Given the description of an element on the screen output the (x, y) to click on. 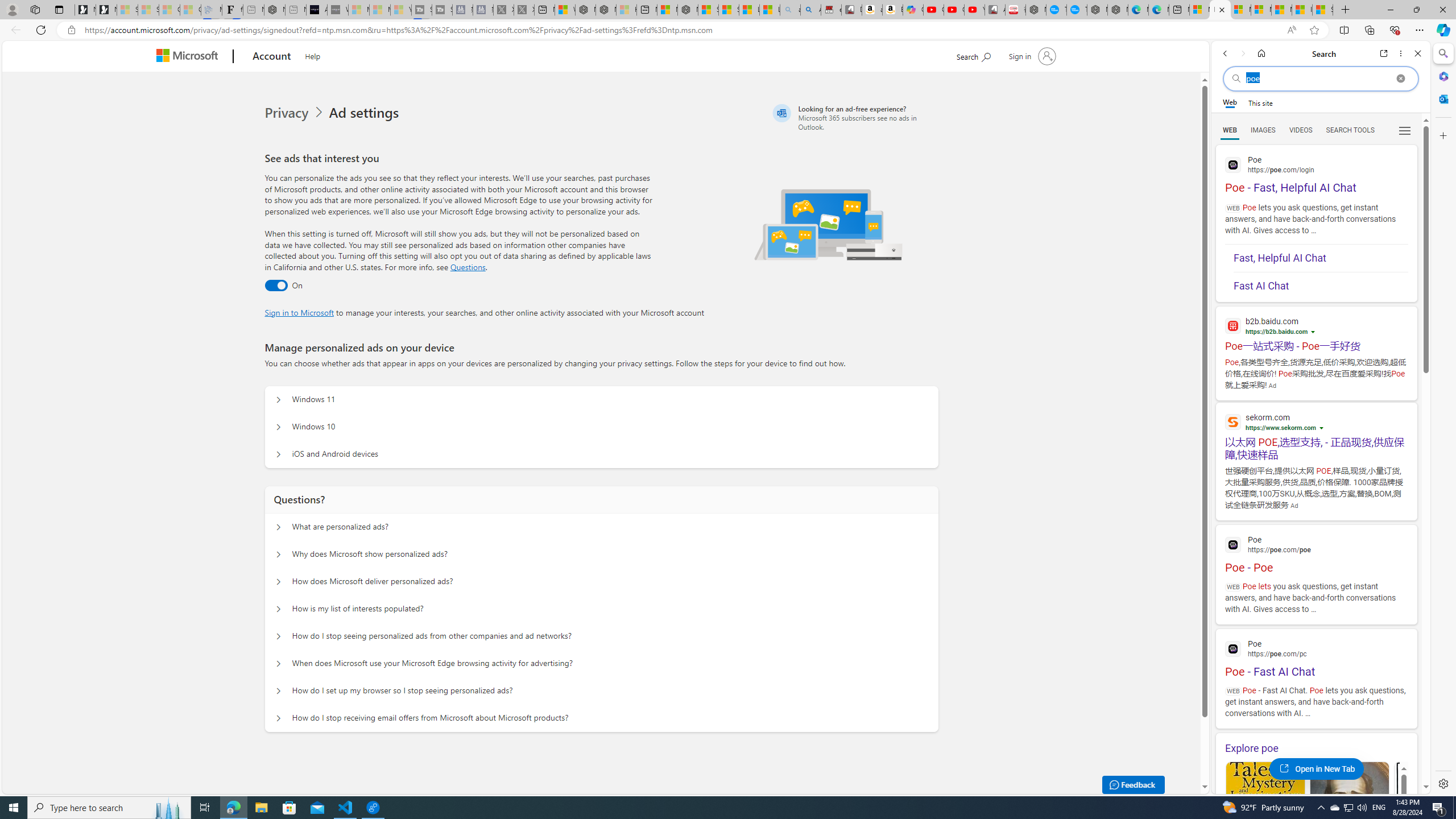
Go to Questions section (467, 266)
Search the web (1320, 78)
VIDEOS (1300, 130)
Poe - Fast AI Chat (1315, 656)
Side bar (1443, 418)
Nordace - Summer Adventures 2024 (606, 9)
Amazon Echo Dot PNG - Search Images (809, 9)
Nordace - #1 Japanese Best-Seller - Siena Smart Backpack (274, 9)
Poe (1315, 647)
I Gained 20 Pounds of Muscle in 30 Days! | Watch (1302, 9)
